Given the description of an element on the screen output the (x, y) to click on. 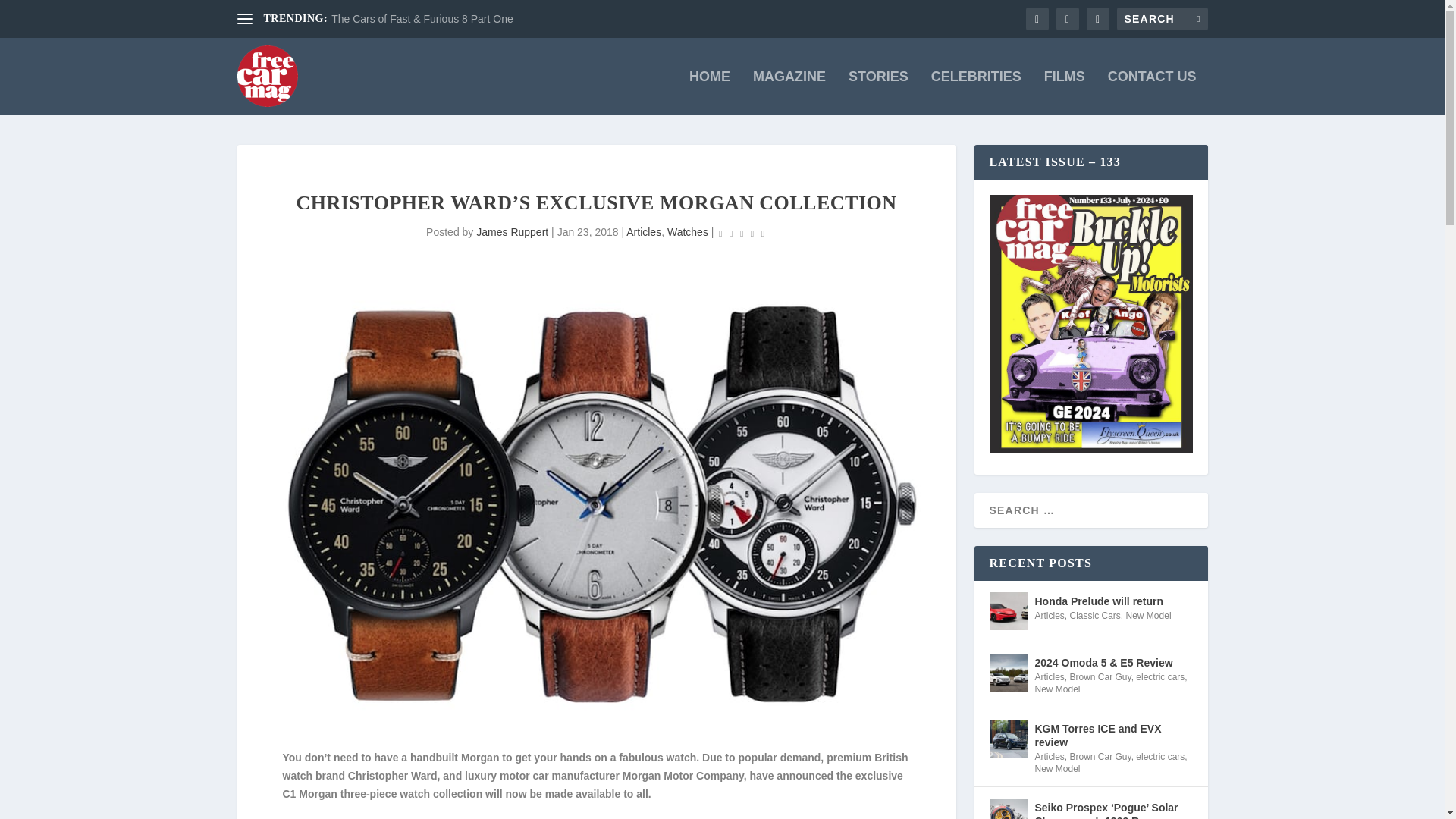
Search for: (1161, 18)
Rating: 0.00 (741, 232)
FILMS (1063, 92)
CELEBRITIES (976, 92)
Articles (643, 232)
MAGAZINE (788, 92)
CONTACT US (1152, 92)
Posts by James Ruppert (512, 232)
Watches (686, 232)
James Ruppert (512, 232)
HOME (709, 92)
STORIES (878, 92)
